Given the description of an element on the screen output the (x, y) to click on. 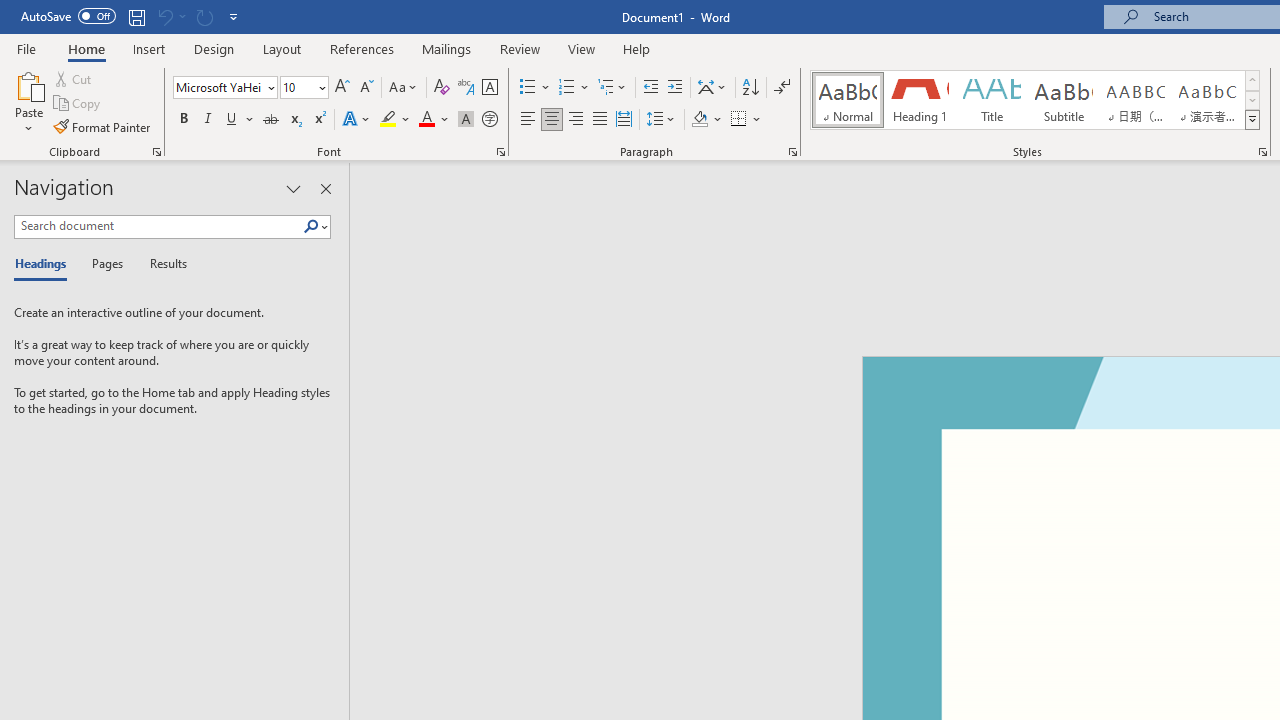
Sort... (750, 87)
Review (520, 48)
Can't Undo (170, 15)
Close pane (325, 188)
Row up (1252, 79)
Center (552, 119)
Search document (157, 226)
Subtitle (1063, 100)
